Given the description of an element on the screen output the (x, y) to click on. 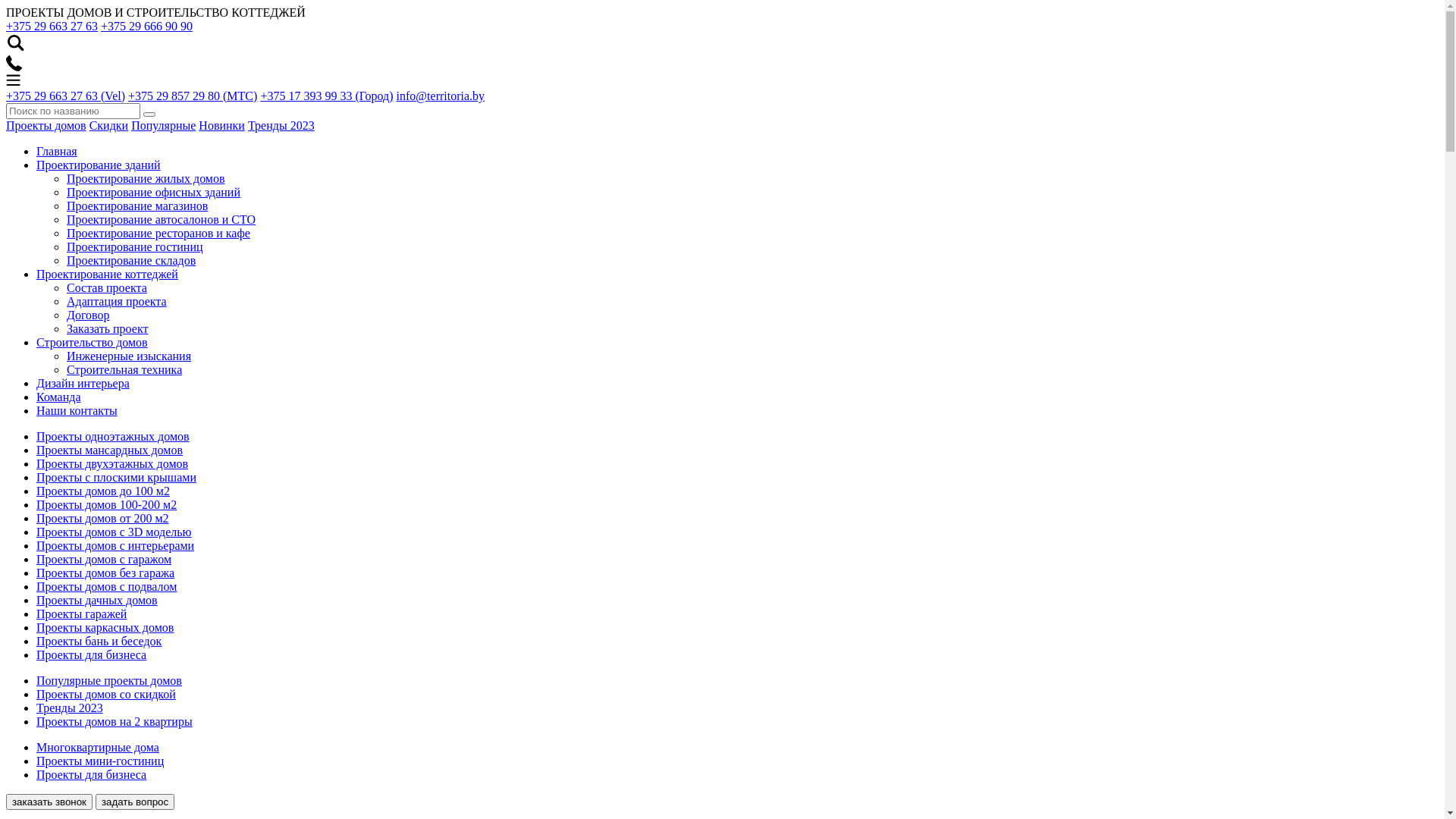
+375 29 666 90 90 Element type: text (146, 25)
+375 29 663 27 63 Element type: text (51, 25)
+375 29 663 27 63 (Vel) Element type: text (65, 95)
info@territoria.by Element type: text (440, 95)
